Given the description of an element on the screen output the (x, y) to click on. 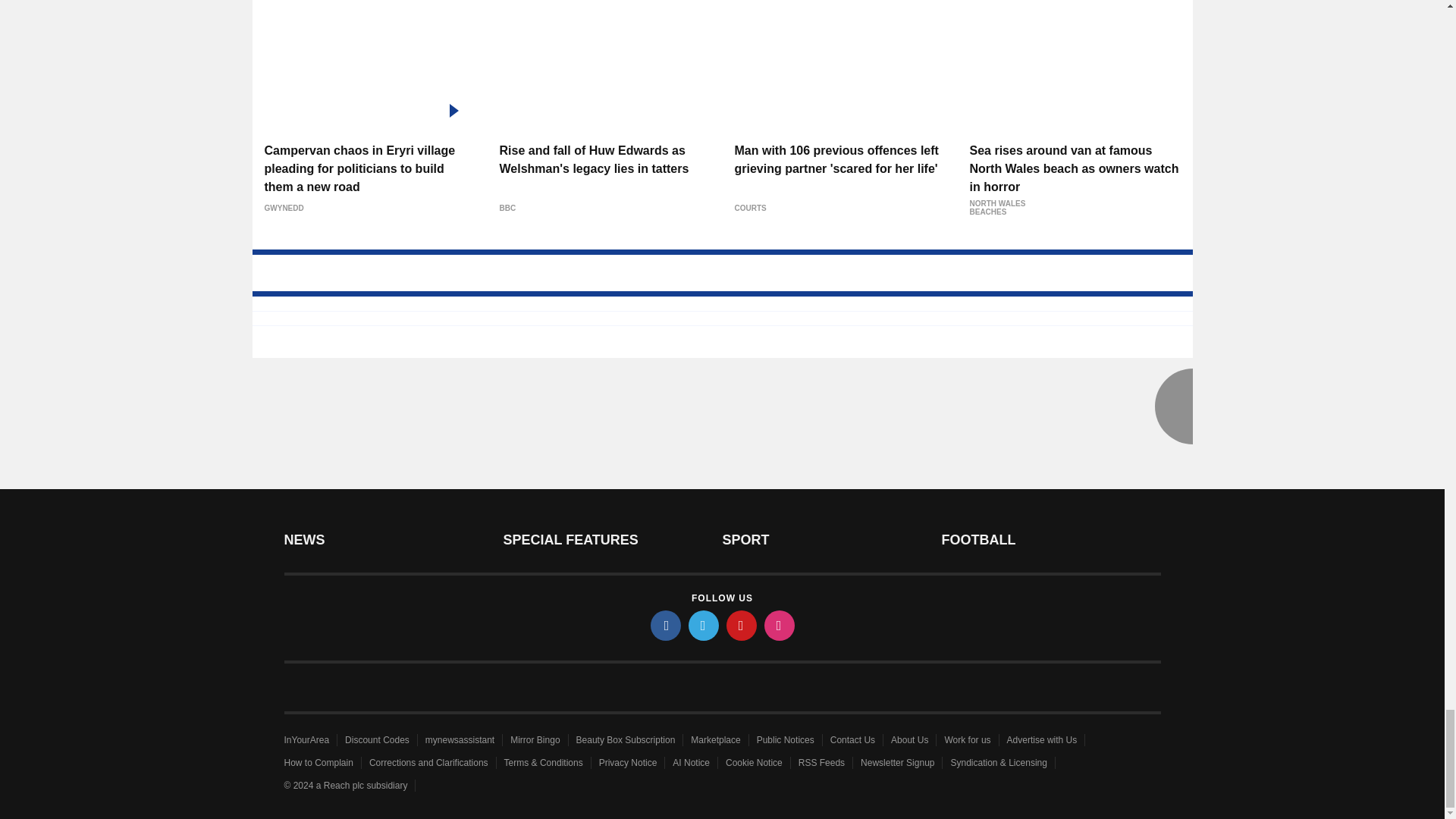
facebook (665, 625)
instagram (779, 625)
pinterest (741, 625)
twitter (703, 625)
